Given the description of an element on the screen output the (x, y) to click on. 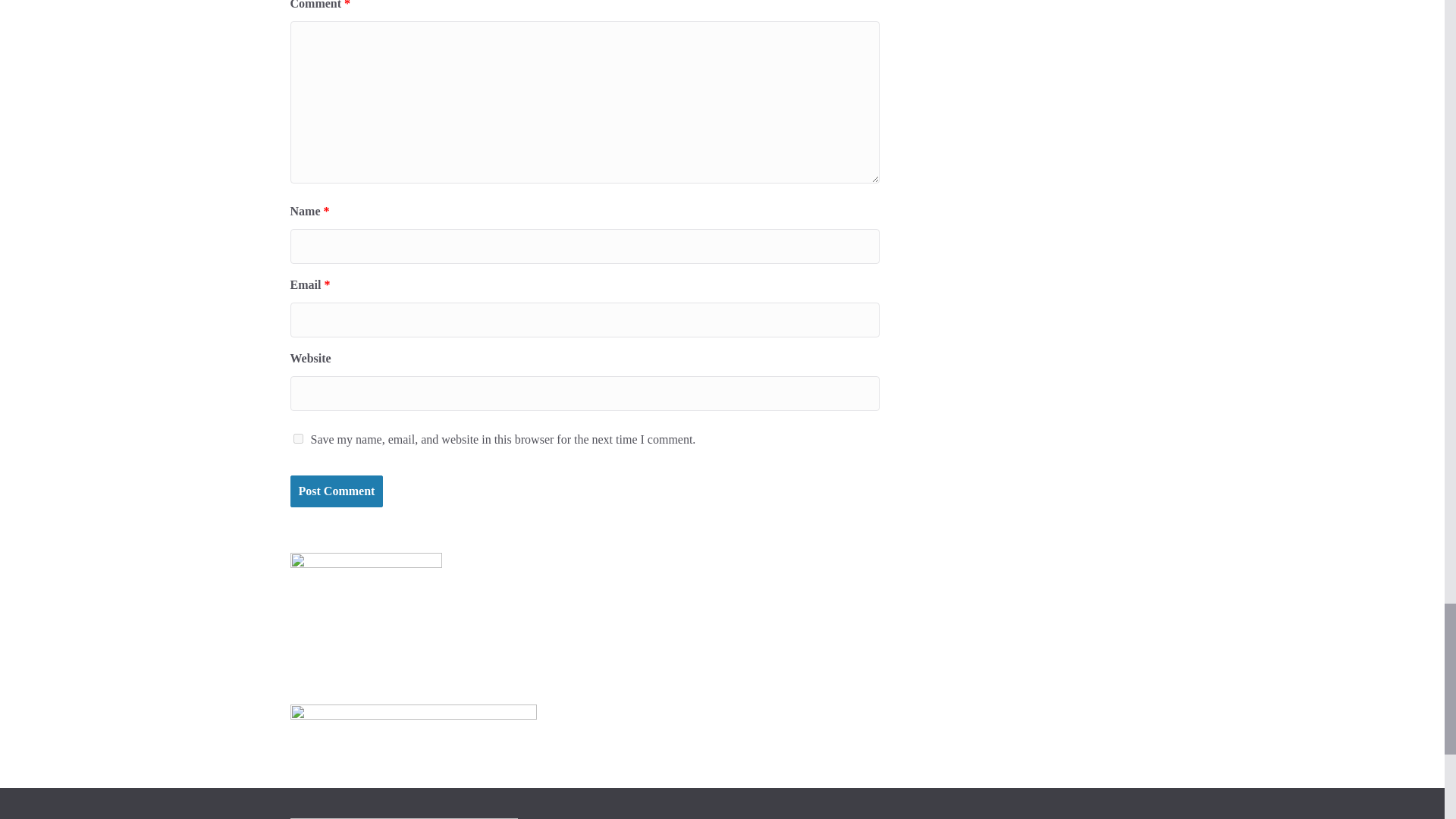
Post Comment (335, 491)
yes (297, 438)
Post Comment (335, 491)
